Given the description of an element on the screen output the (x, y) to click on. 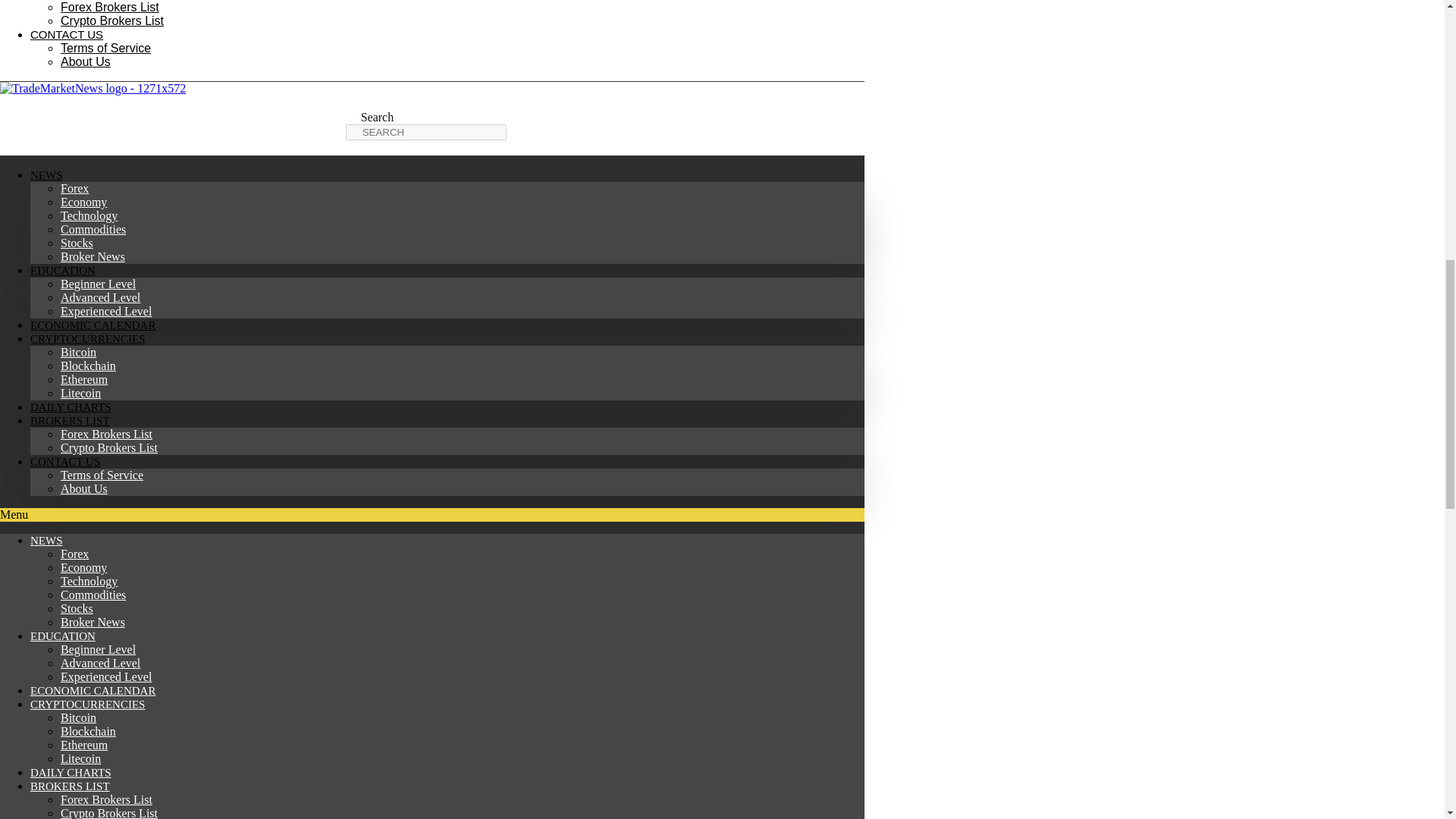
Search (426, 132)
